Given the description of an element on the screen output the (x, y) to click on. 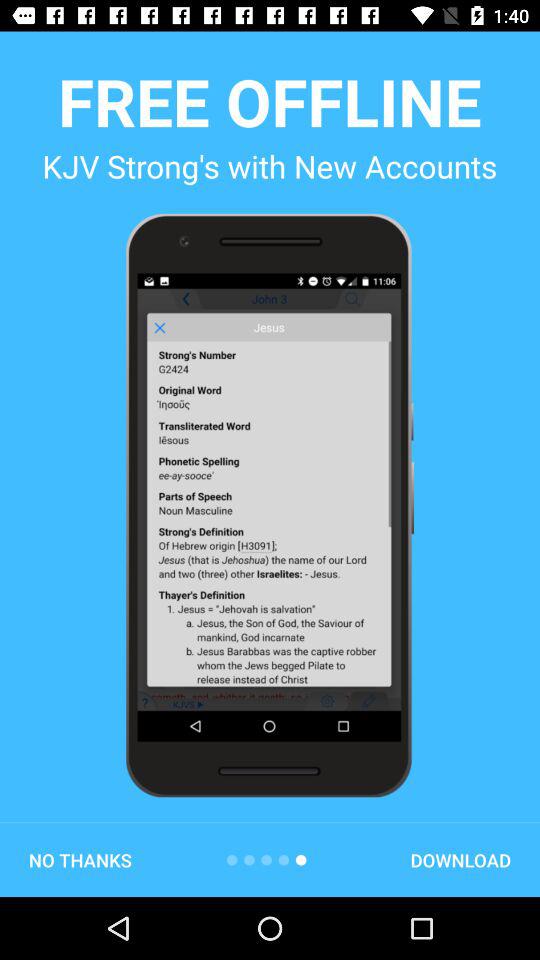
press icon at the bottom right corner (460, 859)
